Given the description of an element on the screen output the (x, y) to click on. 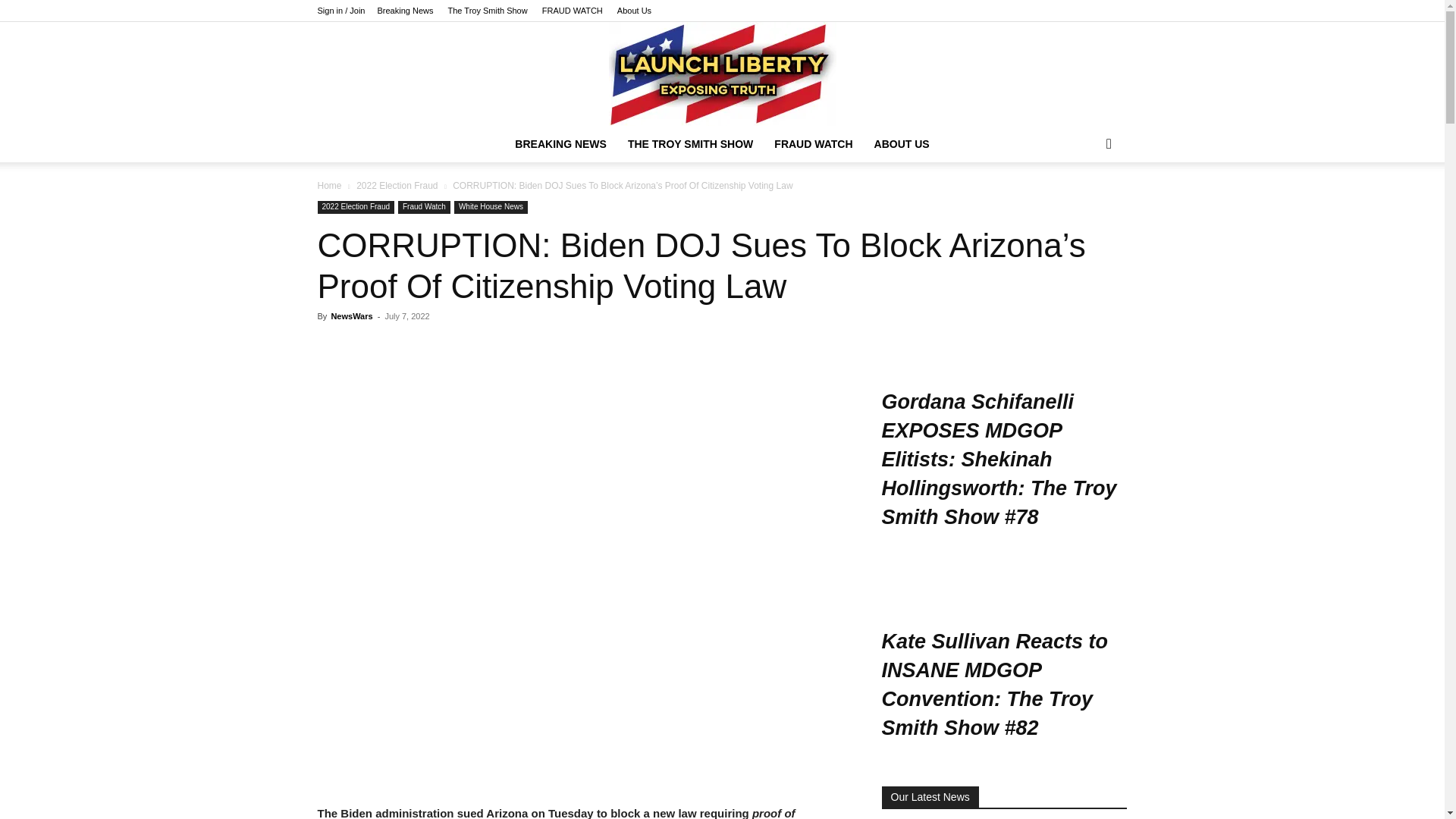
FRAUD WATCH (571, 10)
White House News (490, 206)
Breaking News (404, 10)
Home (328, 185)
THE TROY SMITH SHOW (689, 144)
The Troy Smith Show (487, 10)
Fraud Watch (423, 206)
View all posts in 2022 Election Fraud (397, 185)
2022 Election Fraud (397, 185)
NewsWars (351, 316)
ABOUT US (901, 144)
2022 Election Fraud (355, 206)
About Us (633, 10)
Search (1085, 204)
BREAKING NEWS (560, 144)
